Given the description of an element on the screen output the (x, y) to click on. 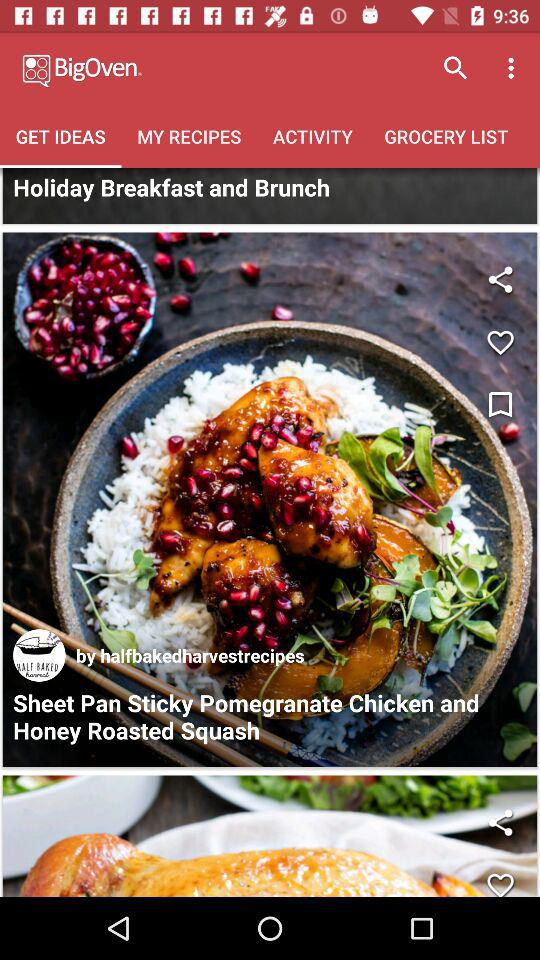
search bar (269, 196)
